Given the description of an element on the screen output the (x, y) to click on. 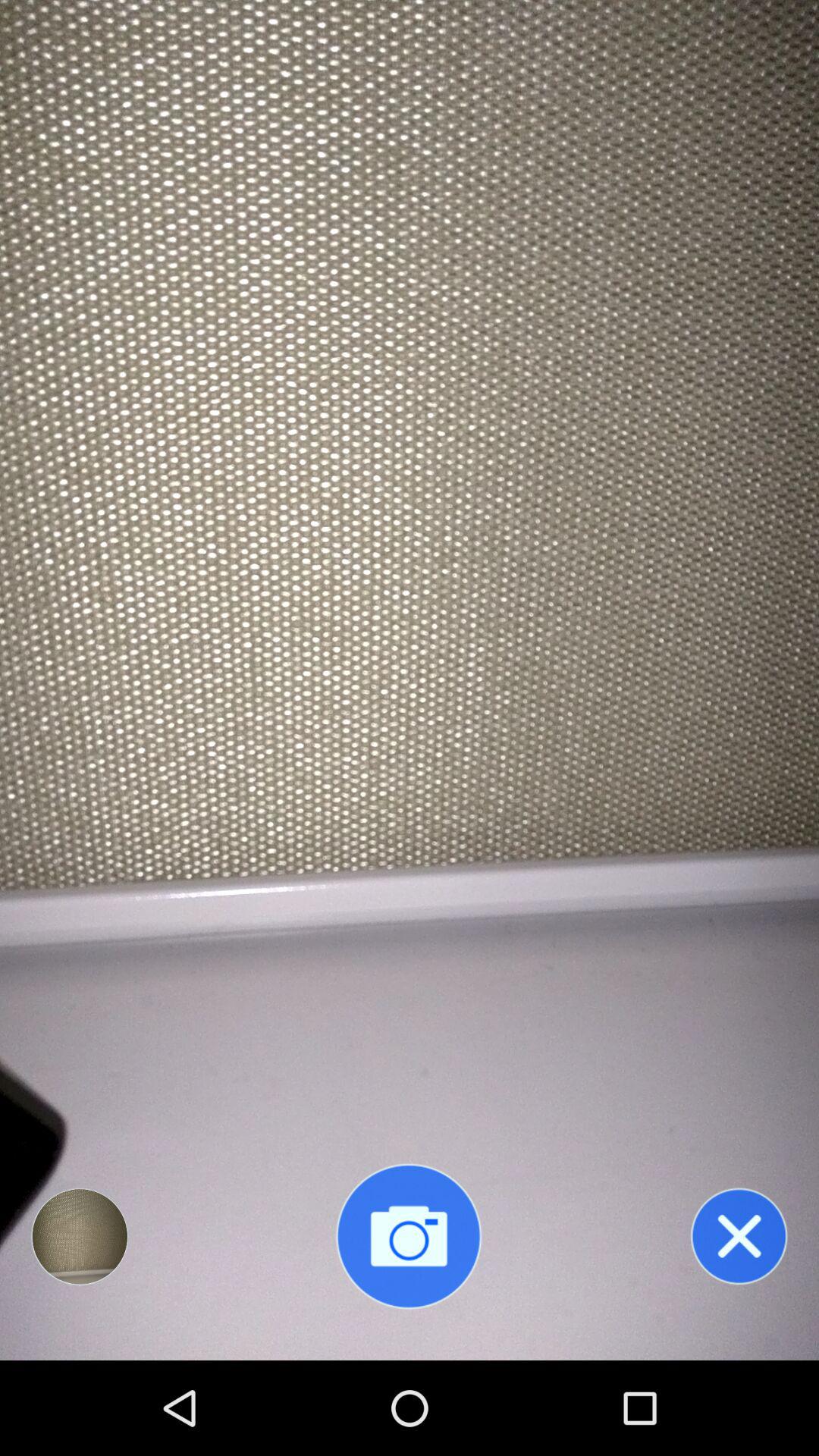
go to close (738, 1236)
